Given the description of an element on the screen output the (x, y) to click on. 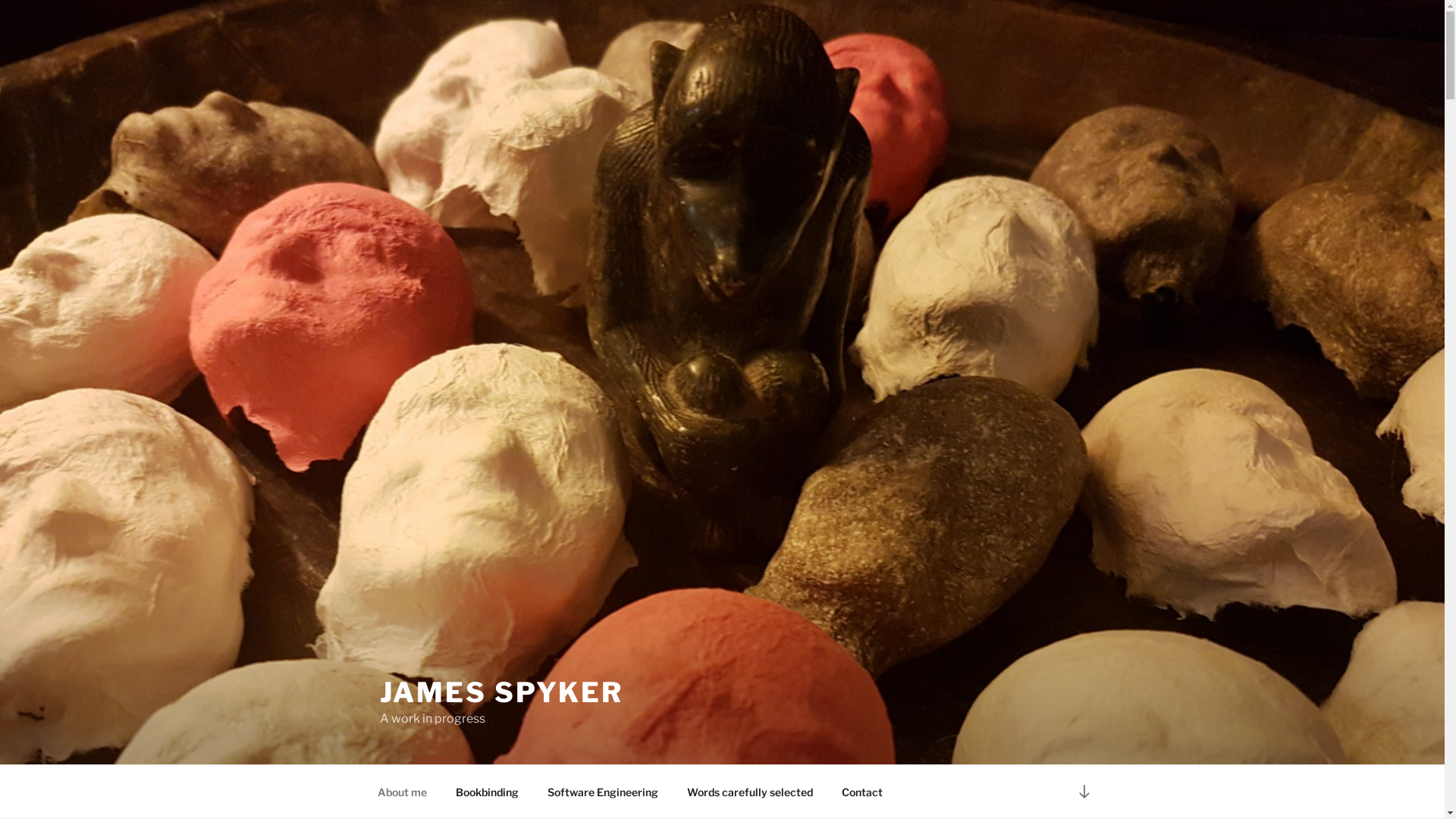
Contact Element type: text (861, 791)
Software Engineering Element type: text (602, 791)
Scroll down to content Element type: text (1083, 790)
Words carefully selected Element type: text (749, 791)
JAMES SPYKER Element type: text (501, 692)
Bookbinding Element type: text (487, 791)
About me Element type: text (401, 791)
